Given the description of an element on the screen output the (x, y) to click on. 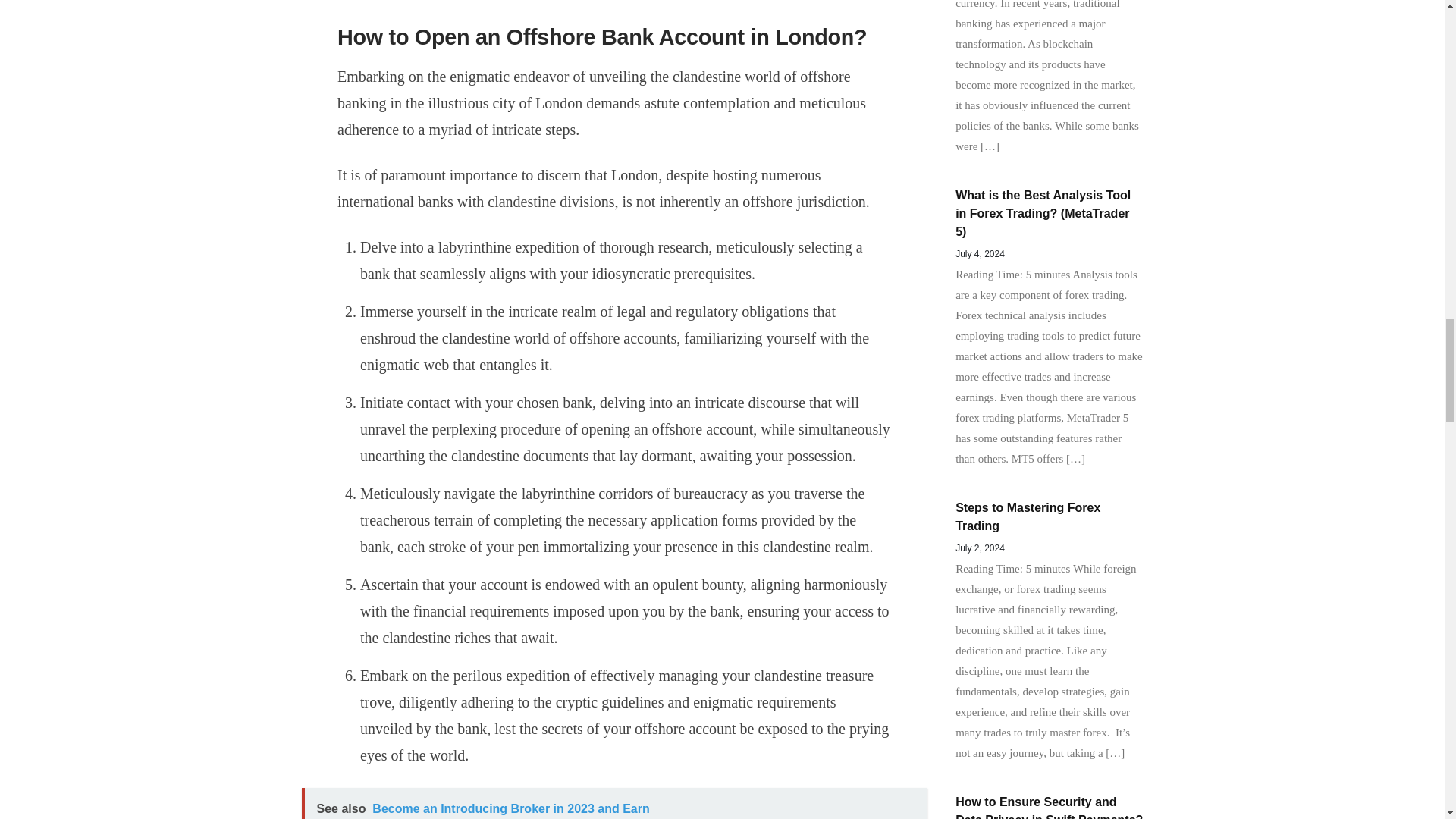
See also  Become an Introducing Broker in 2023 and Earn (614, 803)
